Given the description of an element on the screen output the (x, y) to click on. 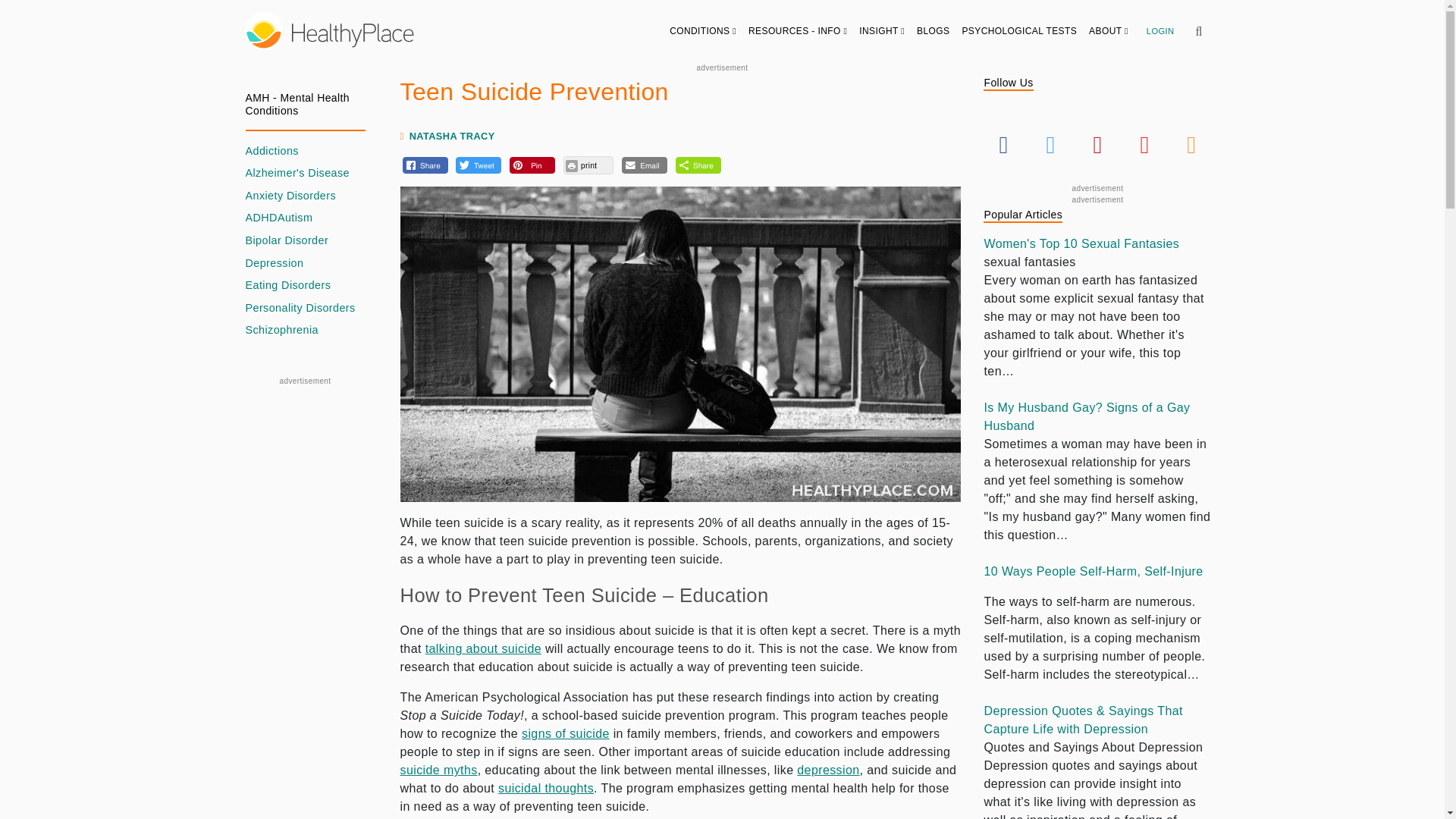
Depression: Understanding Thoughts of Suicide (545, 788)
Suicide Myths and Facts (438, 769)
RESOURCES - INFO (797, 31)
CONDITIONS (702, 31)
Is Talking About Suicide with a Suicidal Person Dangerous? (483, 648)
INSIGHT (882, 31)
Understanding and Helping the Suicidal Person (565, 733)
What Is Depression? Depression Definition (827, 769)
